Given the description of an element on the screen output the (x, y) to click on. 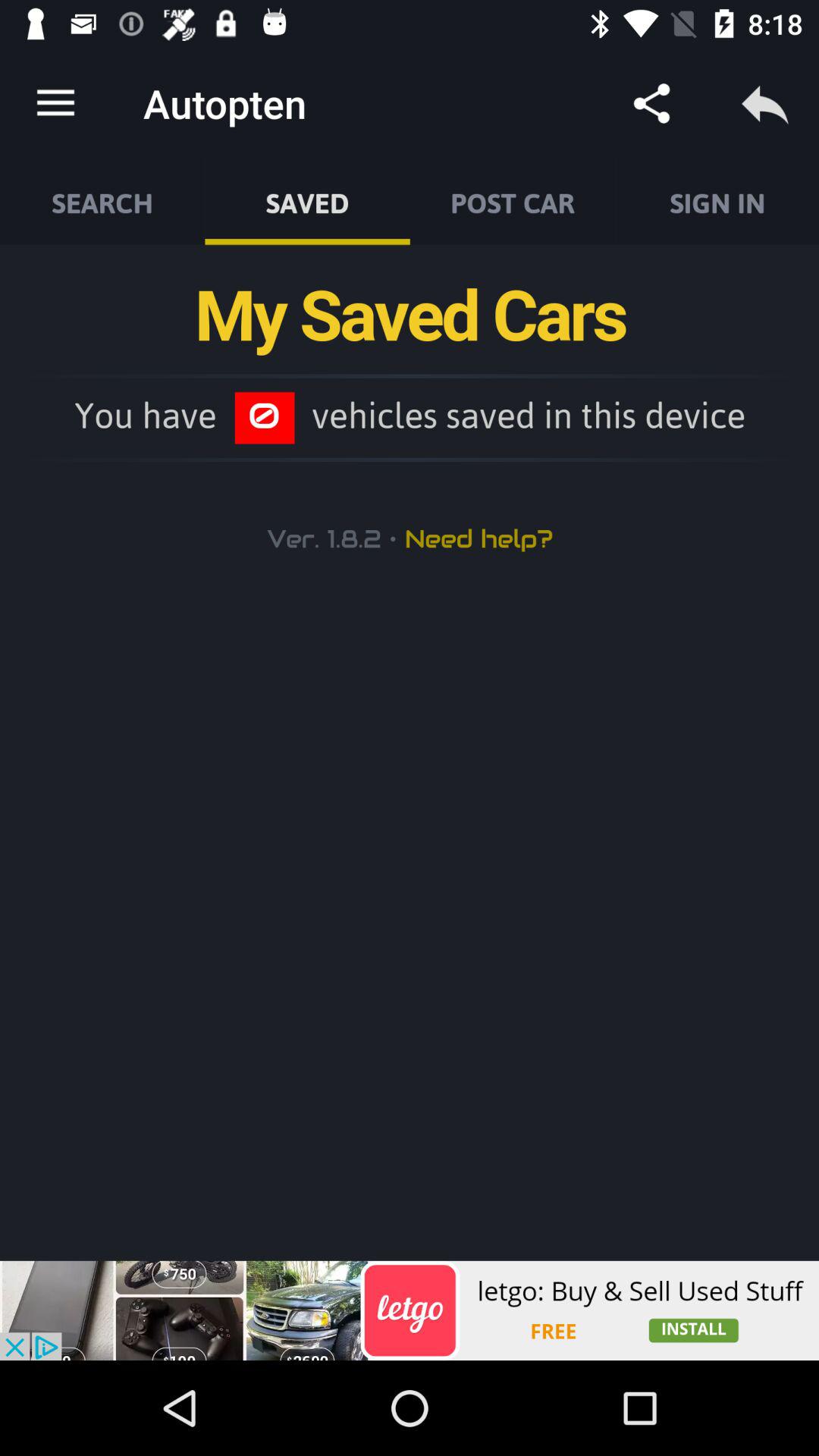
open advertisement (409, 1310)
